Given the description of an element on the screen output the (x, y) to click on. 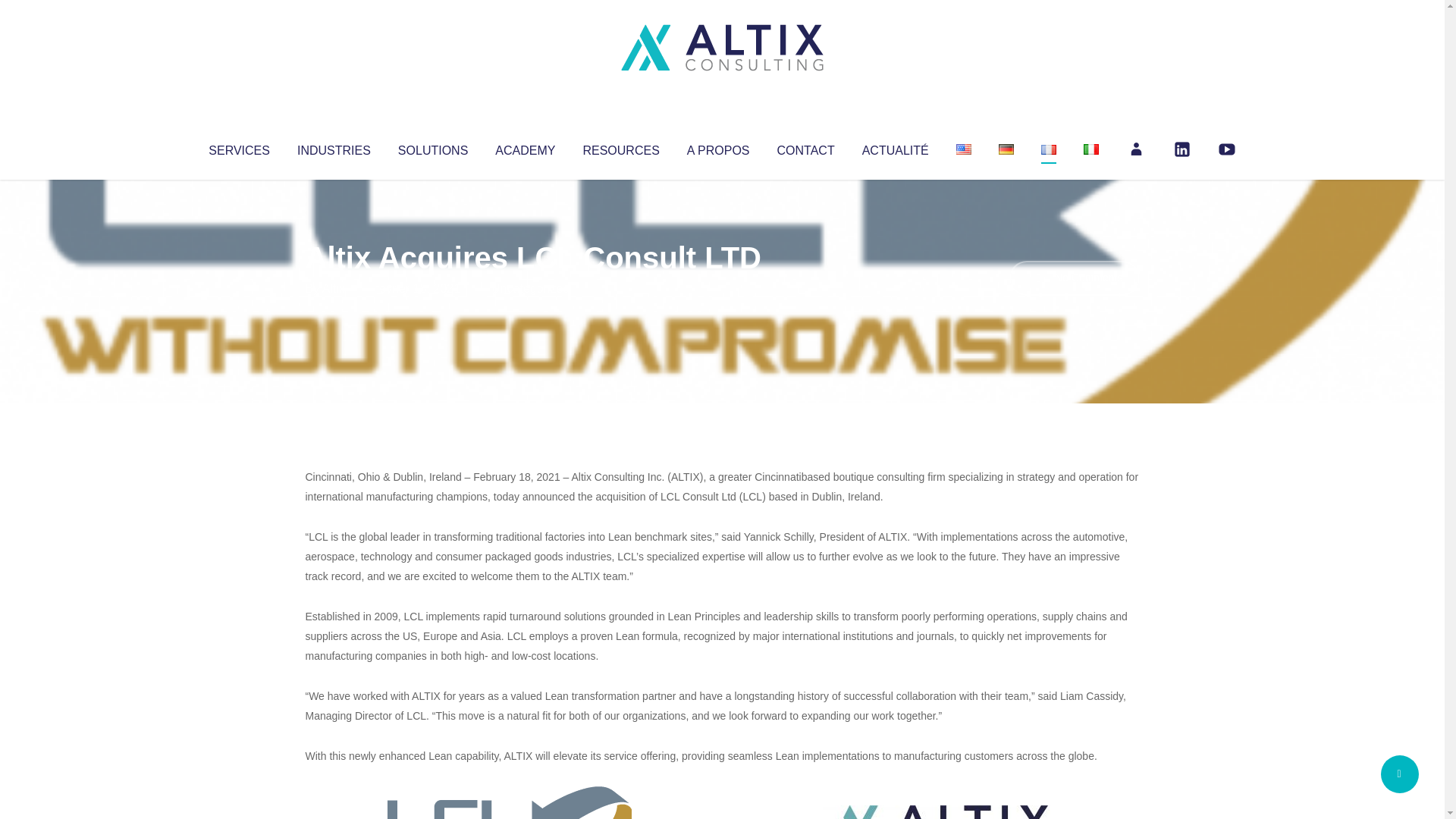
Uncategorized (530, 287)
No Comments (1073, 278)
ACADEMY (524, 146)
SOLUTIONS (432, 146)
RESOURCES (620, 146)
A PROPOS (718, 146)
Articles par Altix (333, 287)
Altix (333, 287)
SERVICES (238, 146)
INDUSTRIES (334, 146)
